Given the description of an element on the screen output the (x, y) to click on. 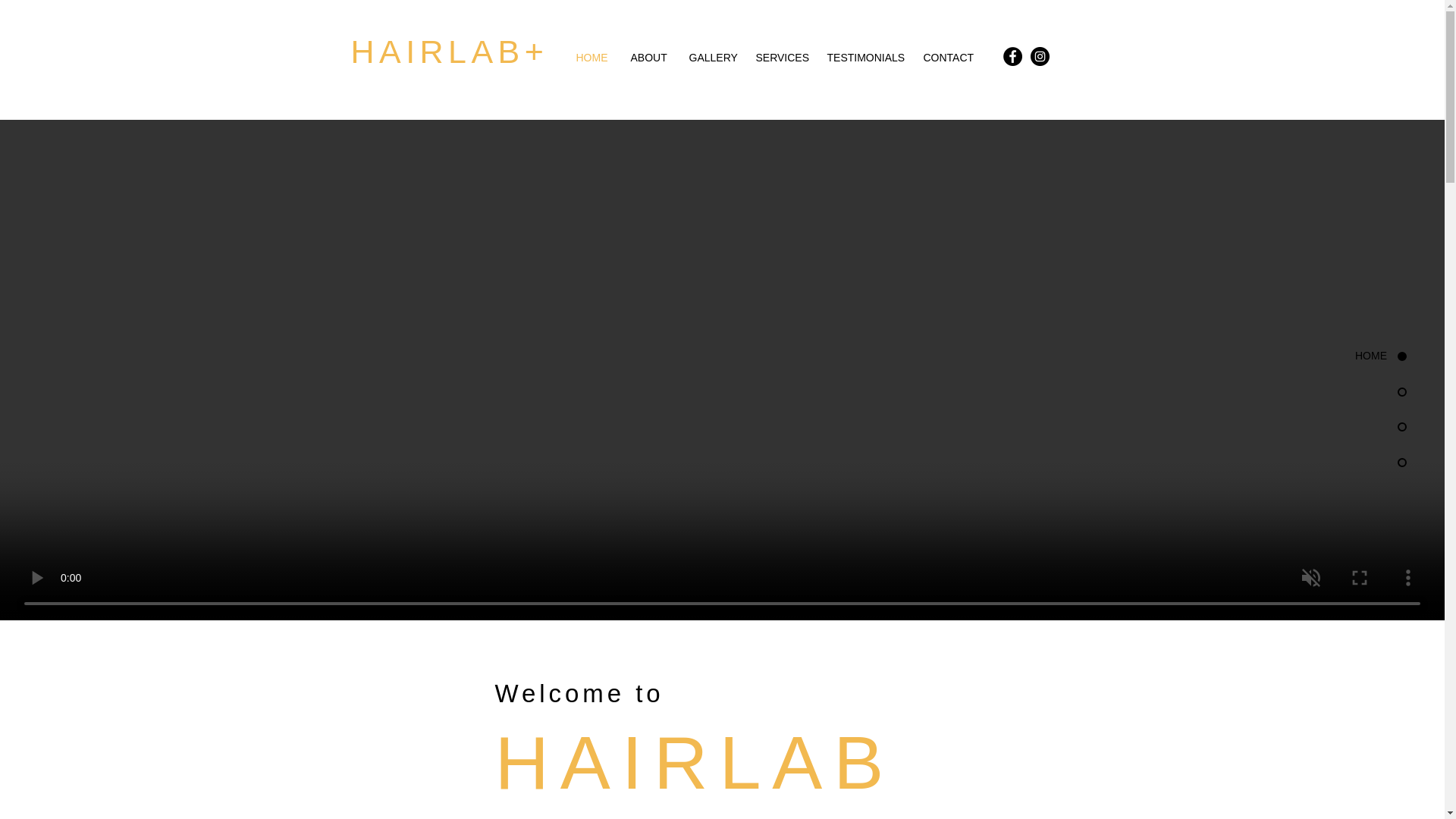
HOME (592, 57)
CONTACT (947, 57)
ABOUT (647, 57)
SERVICES (779, 57)
GALLERY (711, 57)
TESTIMONIALS (863, 57)
Welcome to (579, 693)
HOME (1344, 355)
